Given the description of an element on the screen output the (x, y) to click on. 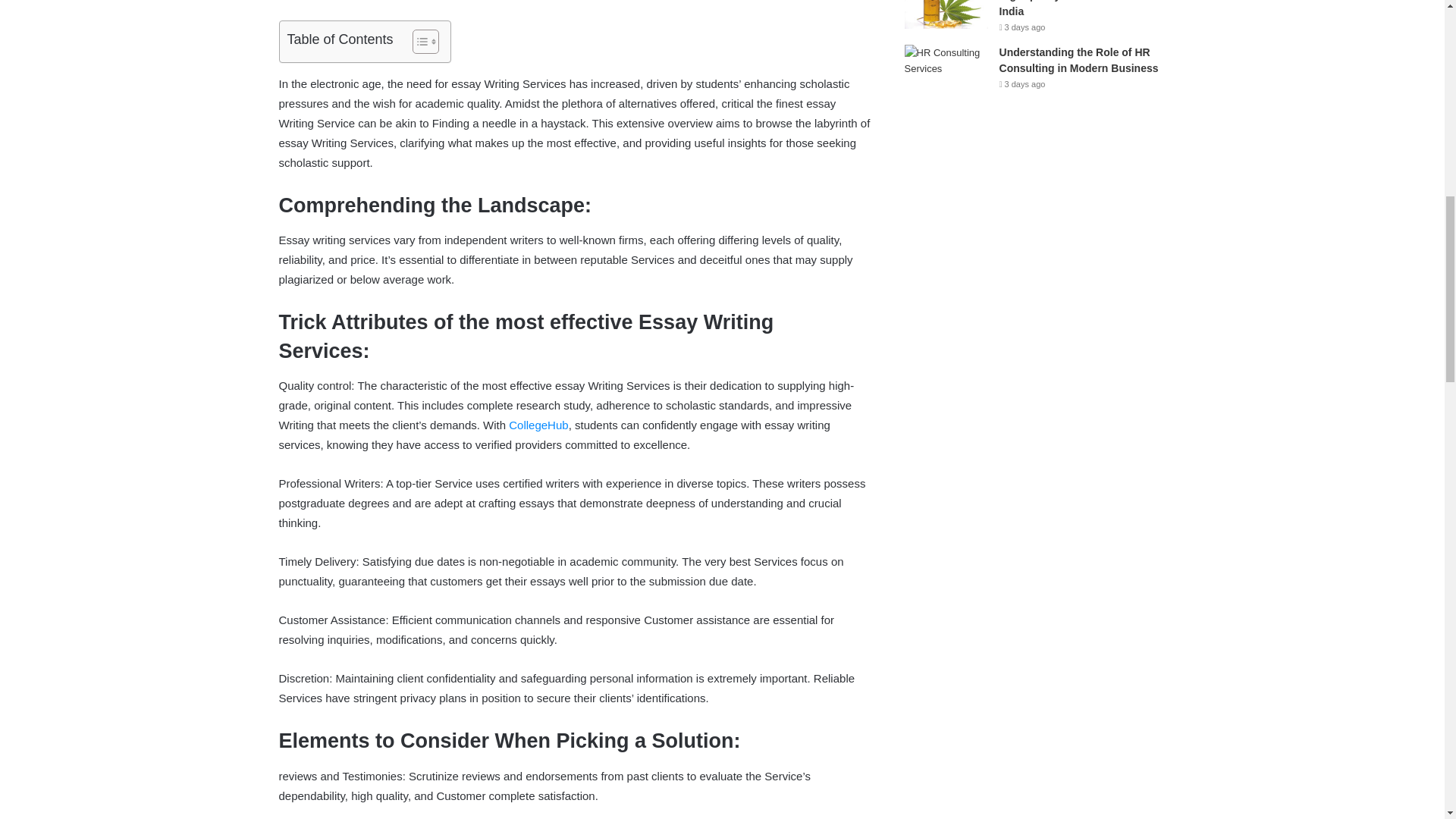
CollegeHub (537, 424)
